Given the description of an element on the screen output the (x, y) to click on. 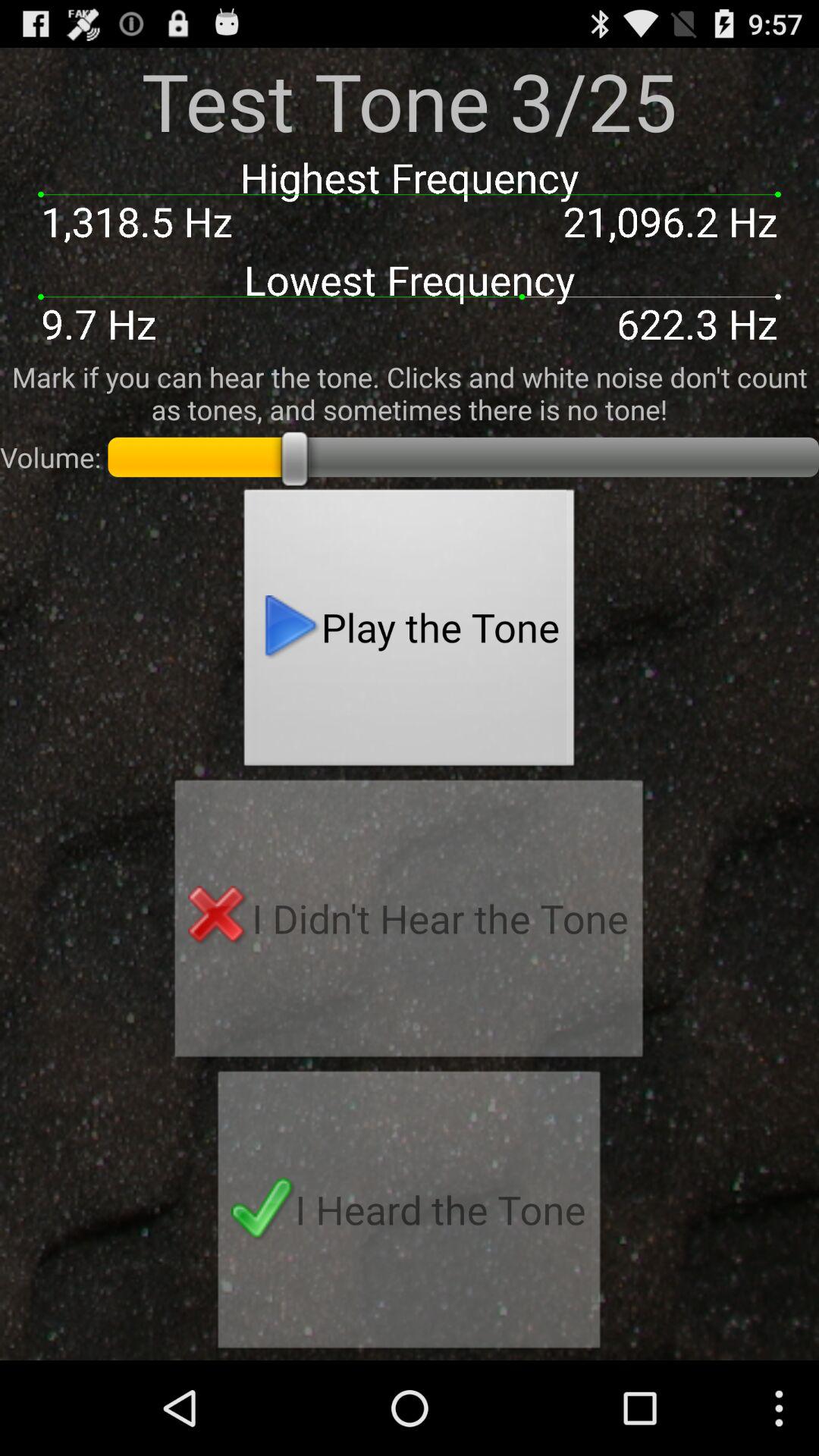
click i didn t item (409, 922)
